Given the description of an element on the screen output the (x, y) to click on. 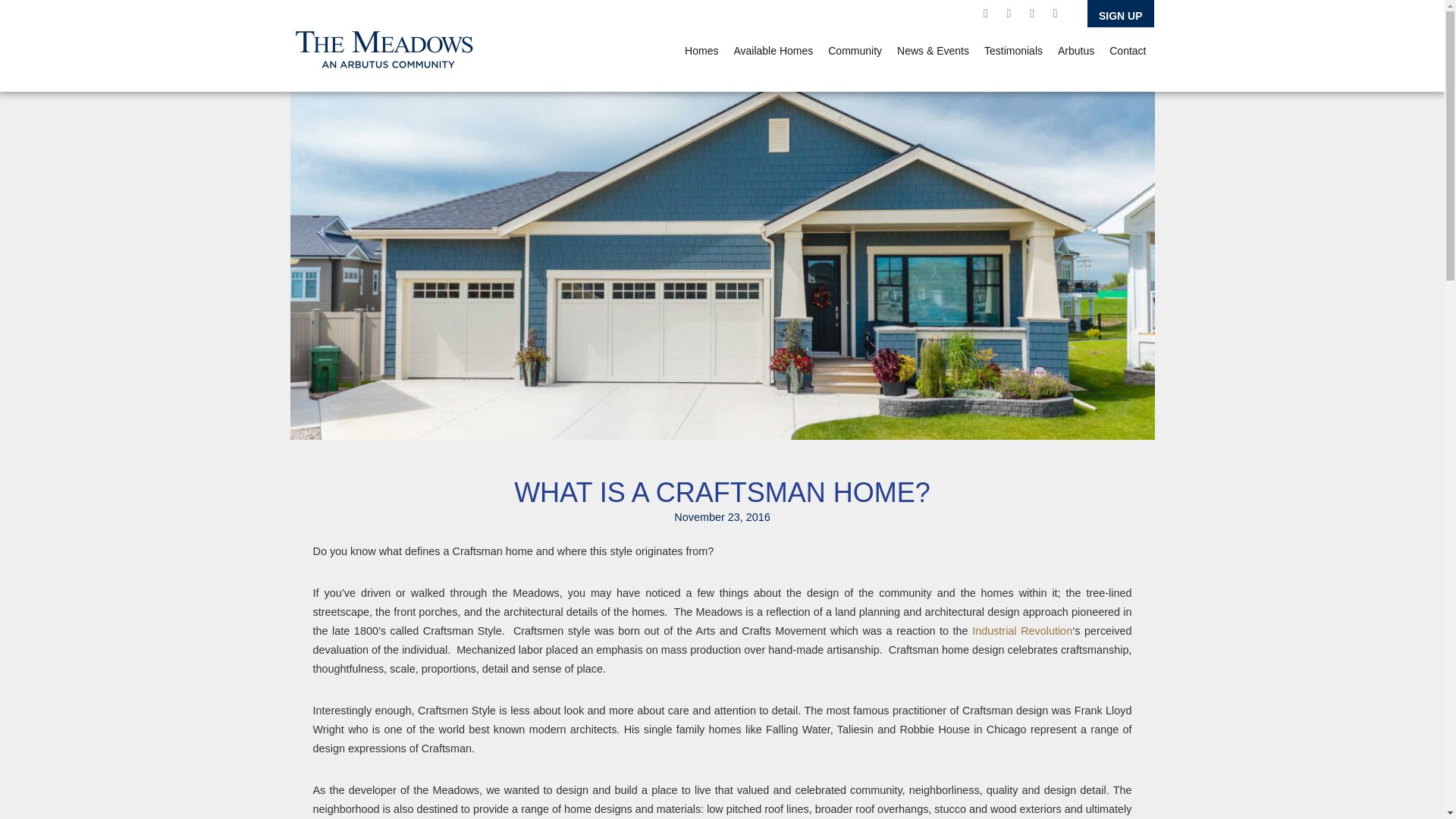
SIGN UP (1120, 13)
Arbutus (1075, 50)
Arbutus (1075, 50)
Homes (701, 50)
Industrial Revolution (1021, 630)
Testimonials (1012, 50)
Contact (1127, 50)
Homes (701, 50)
Available Homes (773, 50)
Community (855, 50)
Contact (1127, 50)
Testimonials (1012, 50)
Available Homes (773, 50)
Community (855, 50)
